Given the description of an element on the screen output the (x, y) to click on. 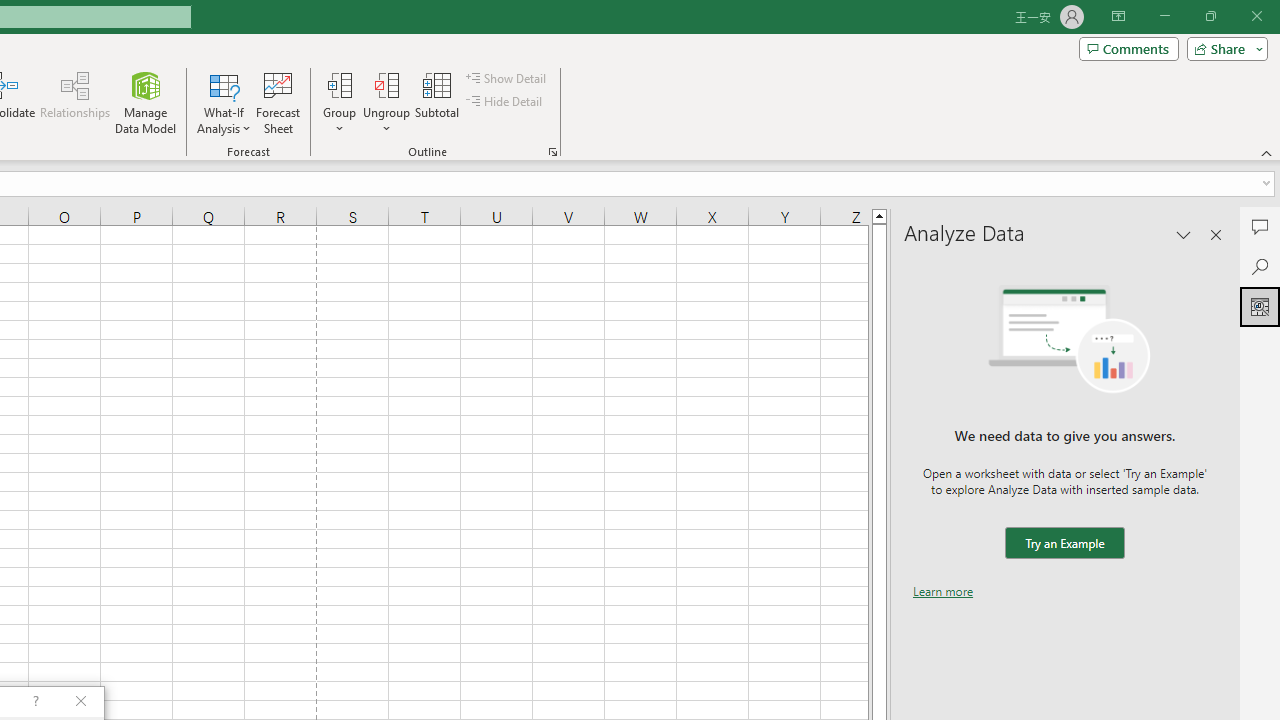
Learn more (943, 591)
